Given the description of an element on the screen output the (x, y) to click on. 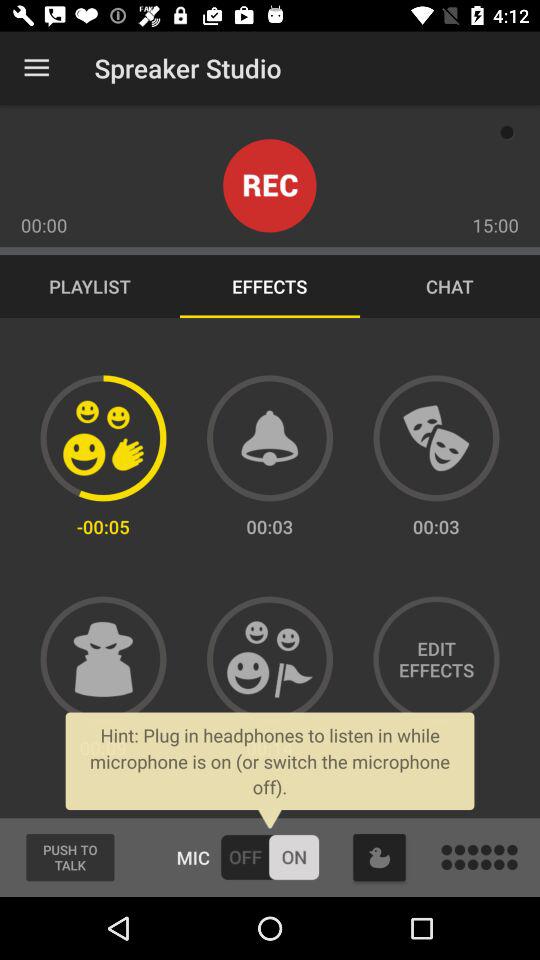
alarm sound (270, 438)
